Given the description of an element on the screen output the (x, y) to click on. 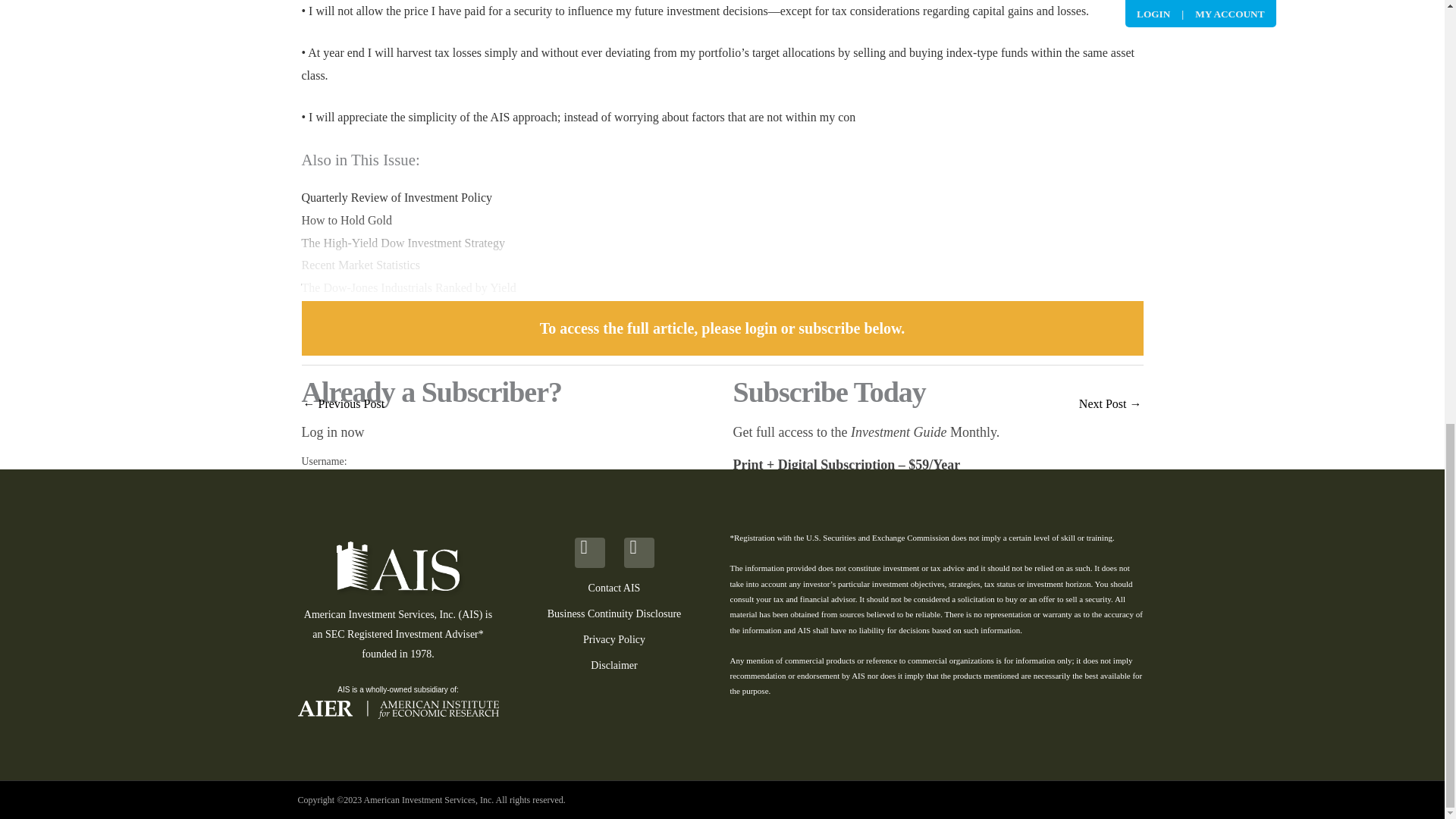
Login (357, 599)
Login (357, 599)
Forgot Password (336, 629)
October 2015 - Will your Broker Sign This? (1109, 405)
